Given the description of an element on the screen output the (x, y) to click on. 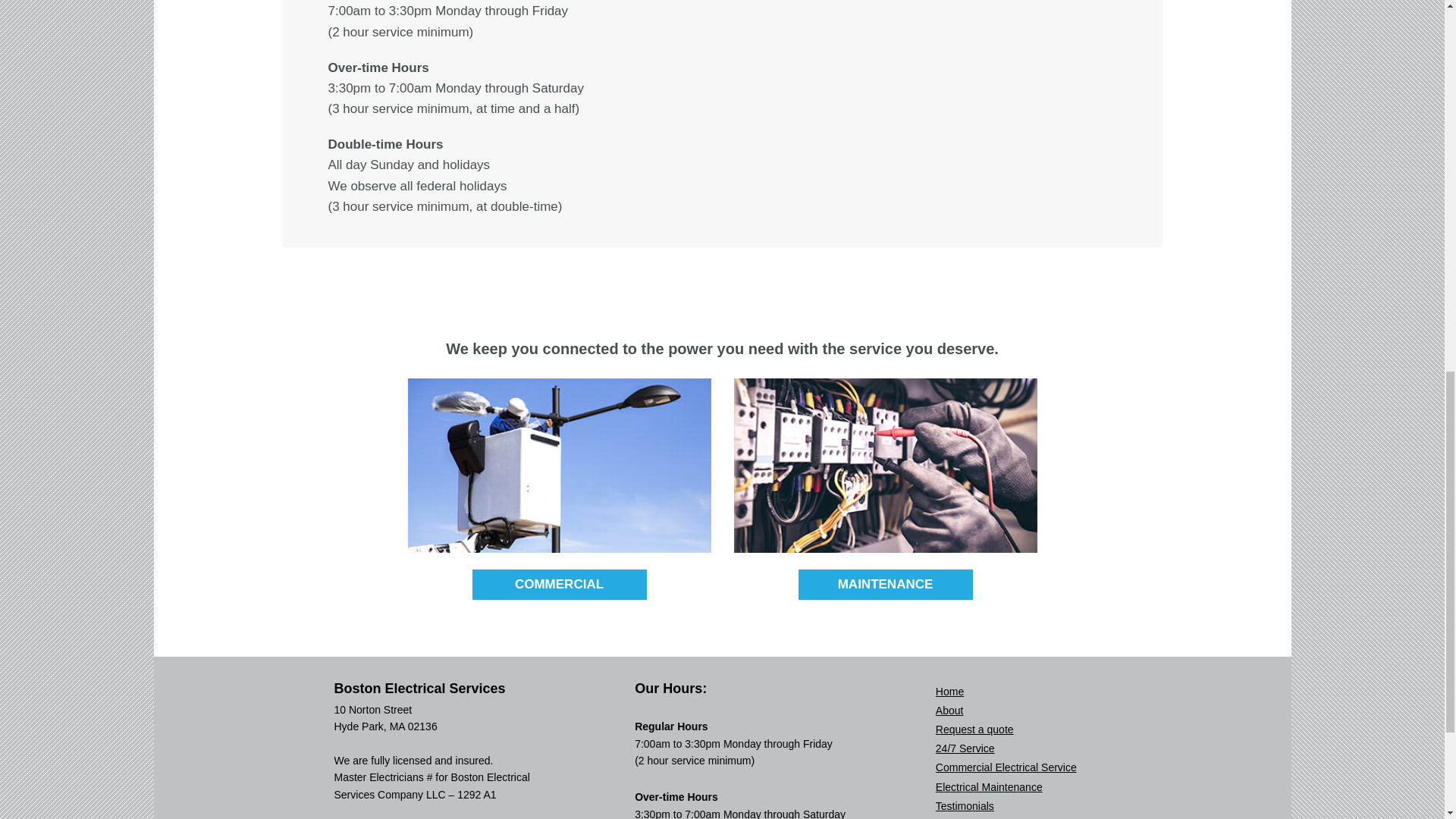
Electrical Maintenance (989, 787)
MAINTENANCE (884, 584)
Home (949, 691)
Commercial Electrical Service (1006, 767)
Testimonials (965, 806)
About (949, 710)
COMMERCIAL (558, 584)
Request a quote (974, 729)
